Given the description of an element on the screen output the (x, y) to click on. 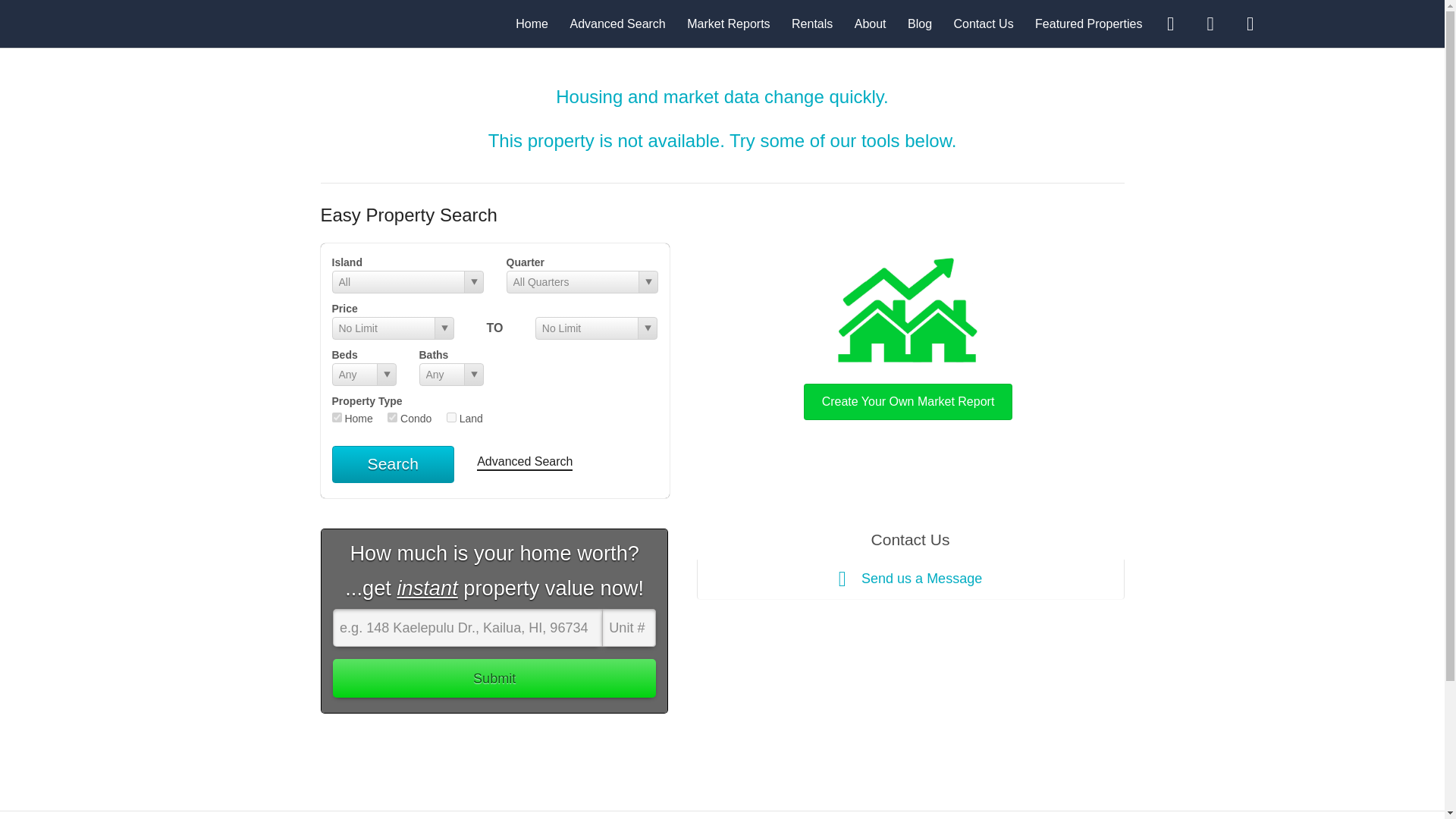
About (870, 23)
Send us a Message (909, 578)
lnd (451, 417)
Advanced Search (617, 23)
Search (392, 463)
Search (392, 463)
Contact Us (983, 23)
con (392, 417)
Create Your Own Market Report (907, 335)
Rentals (812, 23)
res (336, 417)
Home (531, 23)
Blog (919, 23)
Featured Properties (1088, 23)
Market Reports (728, 23)
